Given the description of an element on the screen output the (x, y) to click on. 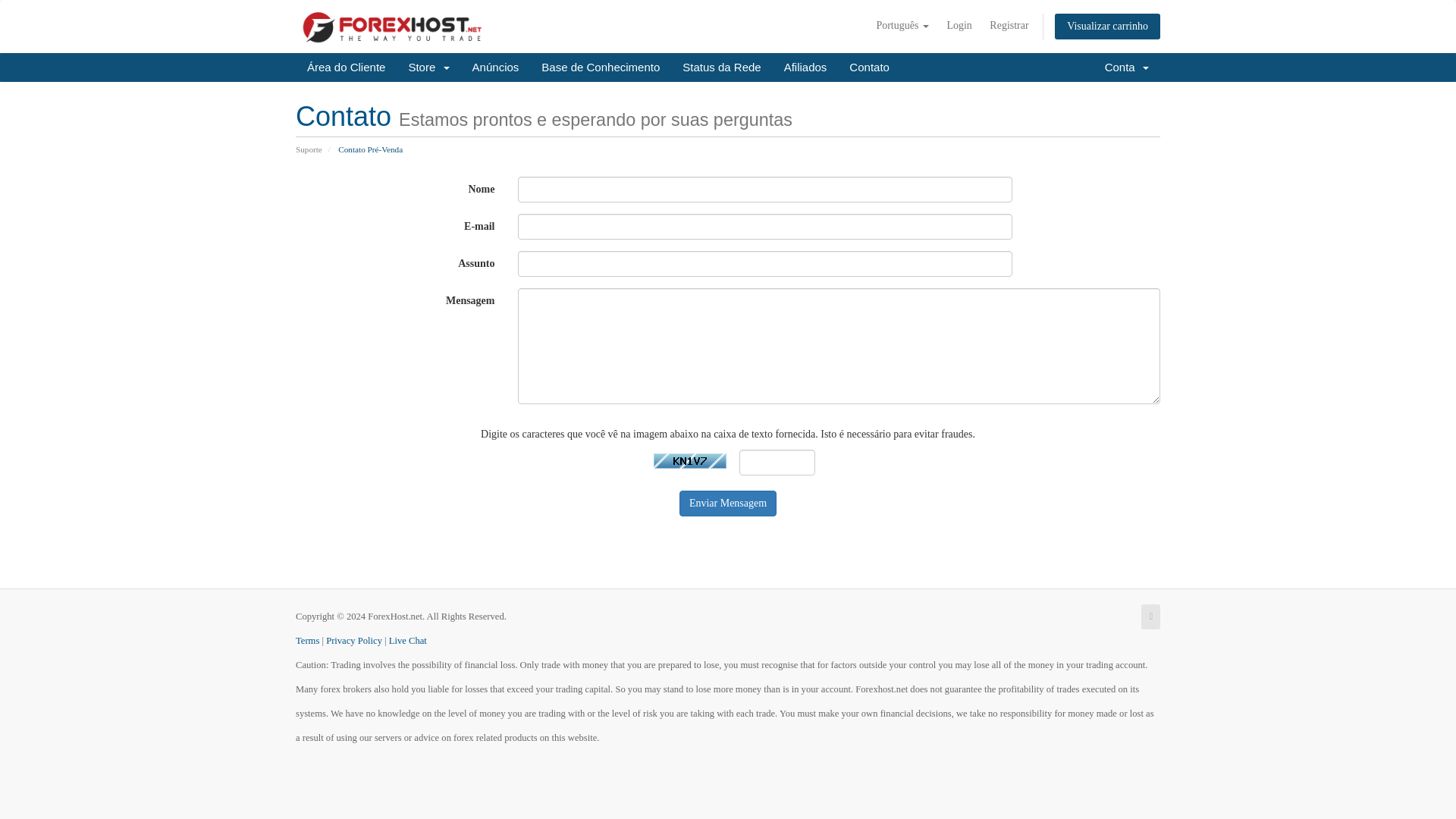
Visualizar carrinho (1107, 26)
Base de Conhecimento (600, 67)
Login (958, 25)
Store   (428, 67)
Required (777, 462)
Registrar (1008, 25)
